Given the description of an element on the screen output the (x, y) to click on. 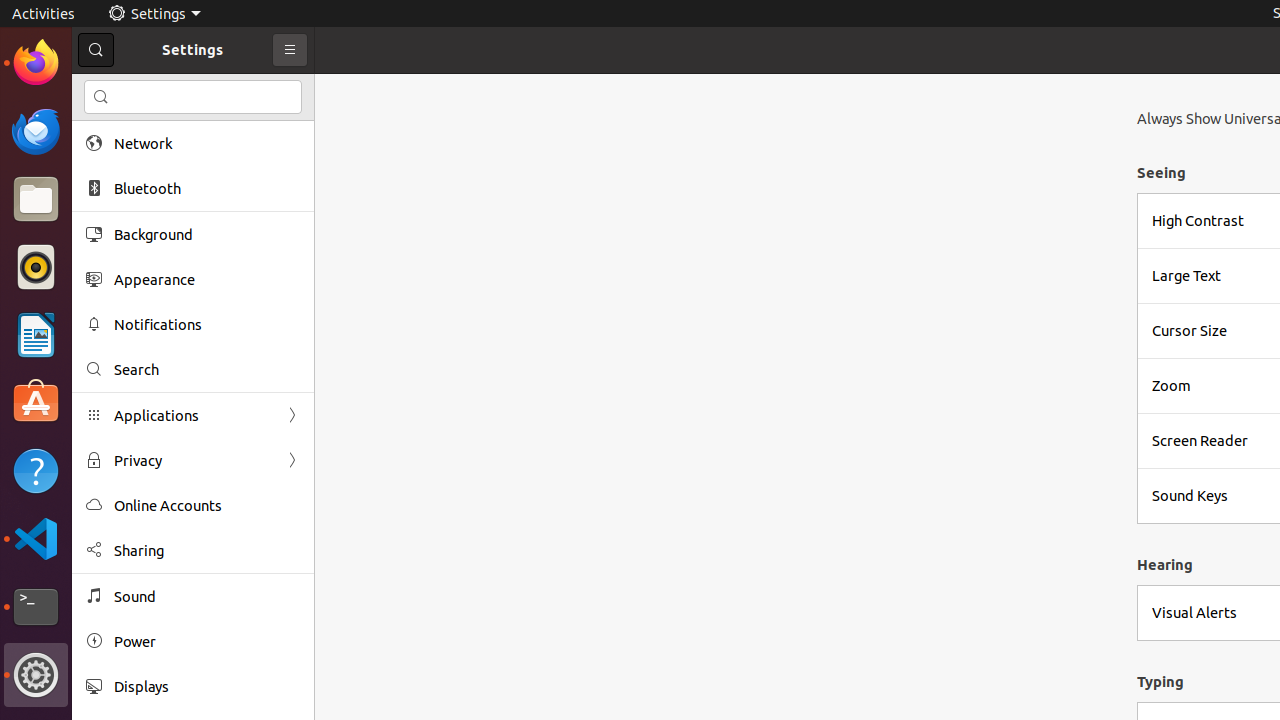
luyi1 Element type: label (133, 89)
Sharing Element type: label (207, 550)
Terminal Element type: push-button (36, 607)
IsaHelpMain.desktop Element type: label (133, 300)
